Given the description of an element on the screen output the (x, y) to click on. 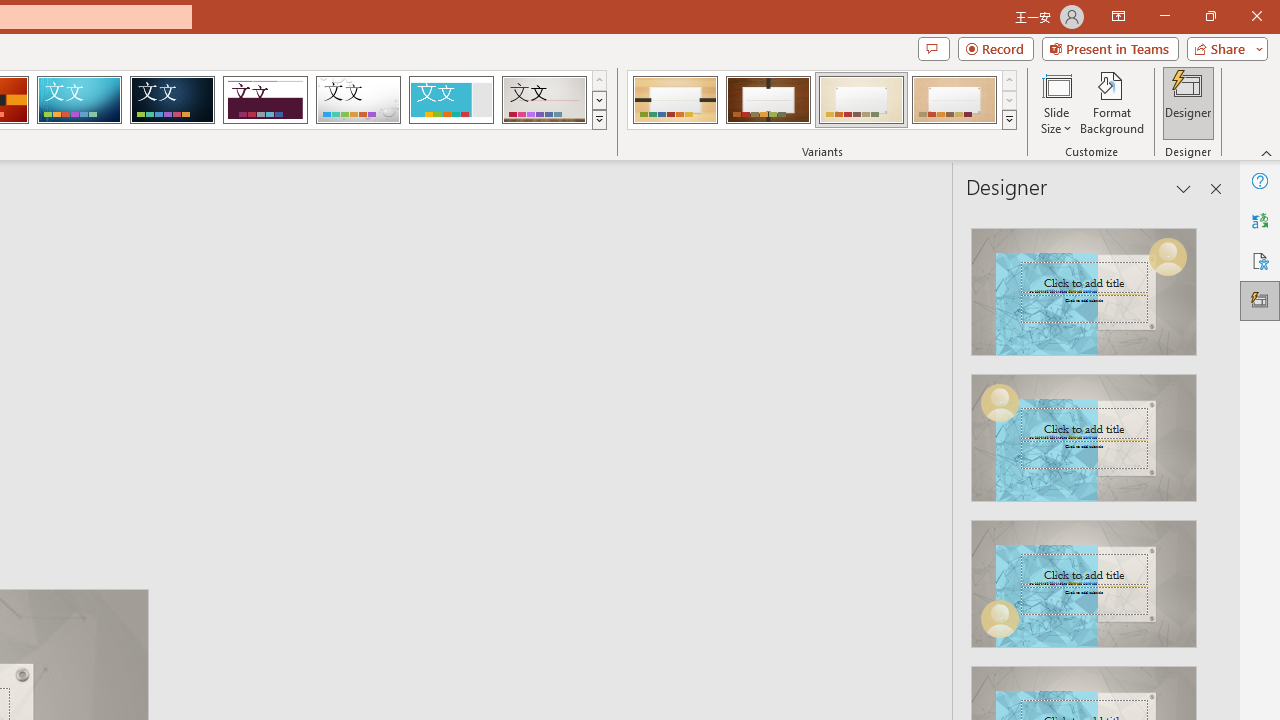
Organic Variant 1 (674, 100)
Damask (171, 100)
Recommended Design: Design Idea (1083, 286)
Gallery (544, 100)
Frame (450, 100)
AutomationID: ThemeVariantsGallery (822, 99)
